Given the description of an element on the screen output the (x, y) to click on. 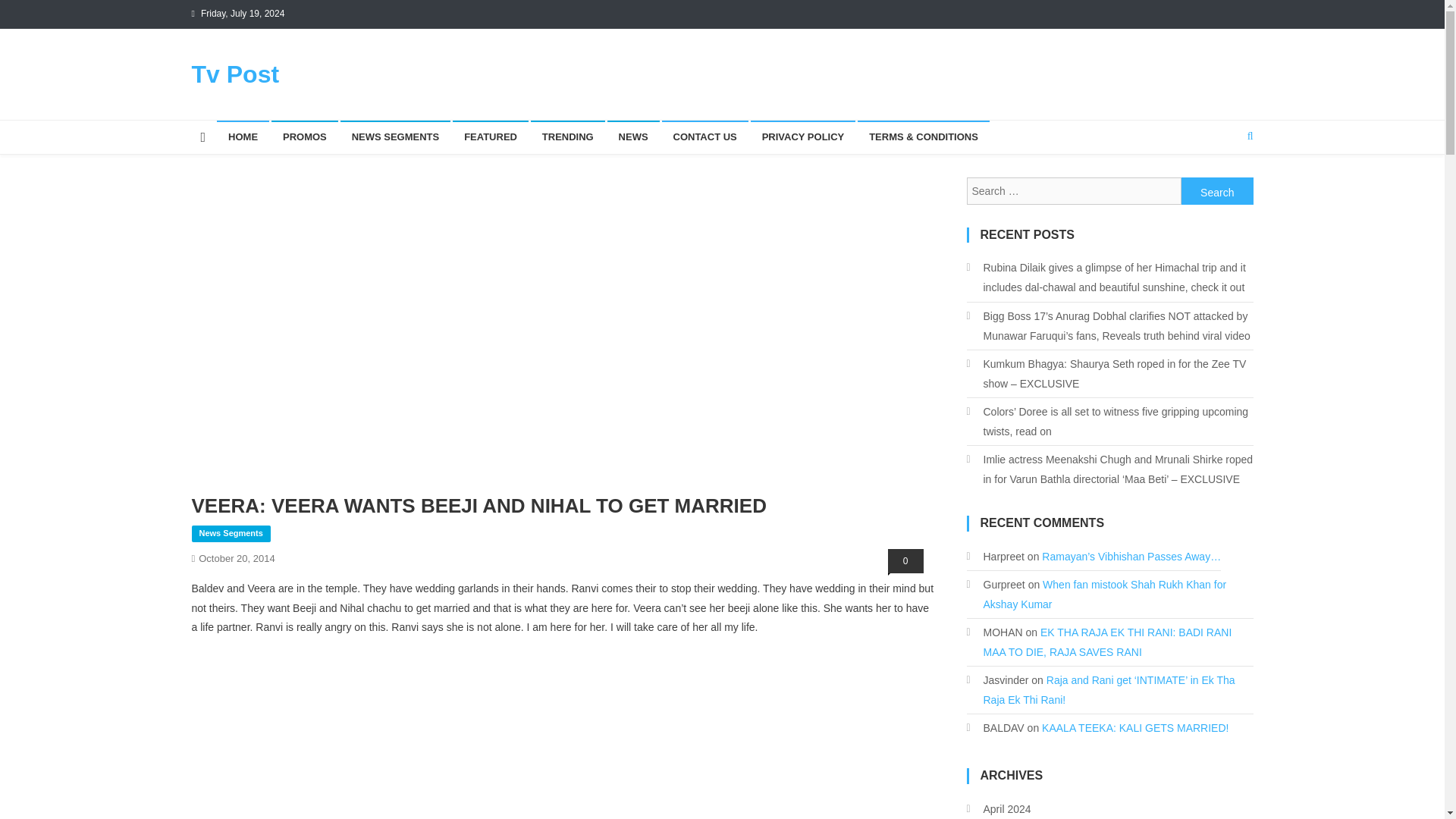
Search (1216, 190)
NEWS (633, 136)
Search (1221, 185)
FEATURED (490, 136)
October 20, 2014 (236, 558)
HOME (242, 136)
NEWS SEGMENTS (395, 136)
CONTACT US (704, 136)
News Segments (229, 533)
PRIVACY POLICY (803, 136)
PROMOS (303, 136)
0 (905, 560)
Tv Post (234, 73)
TRENDING (568, 136)
Search (1216, 190)
